Given the description of an element on the screen output the (x, y) to click on. 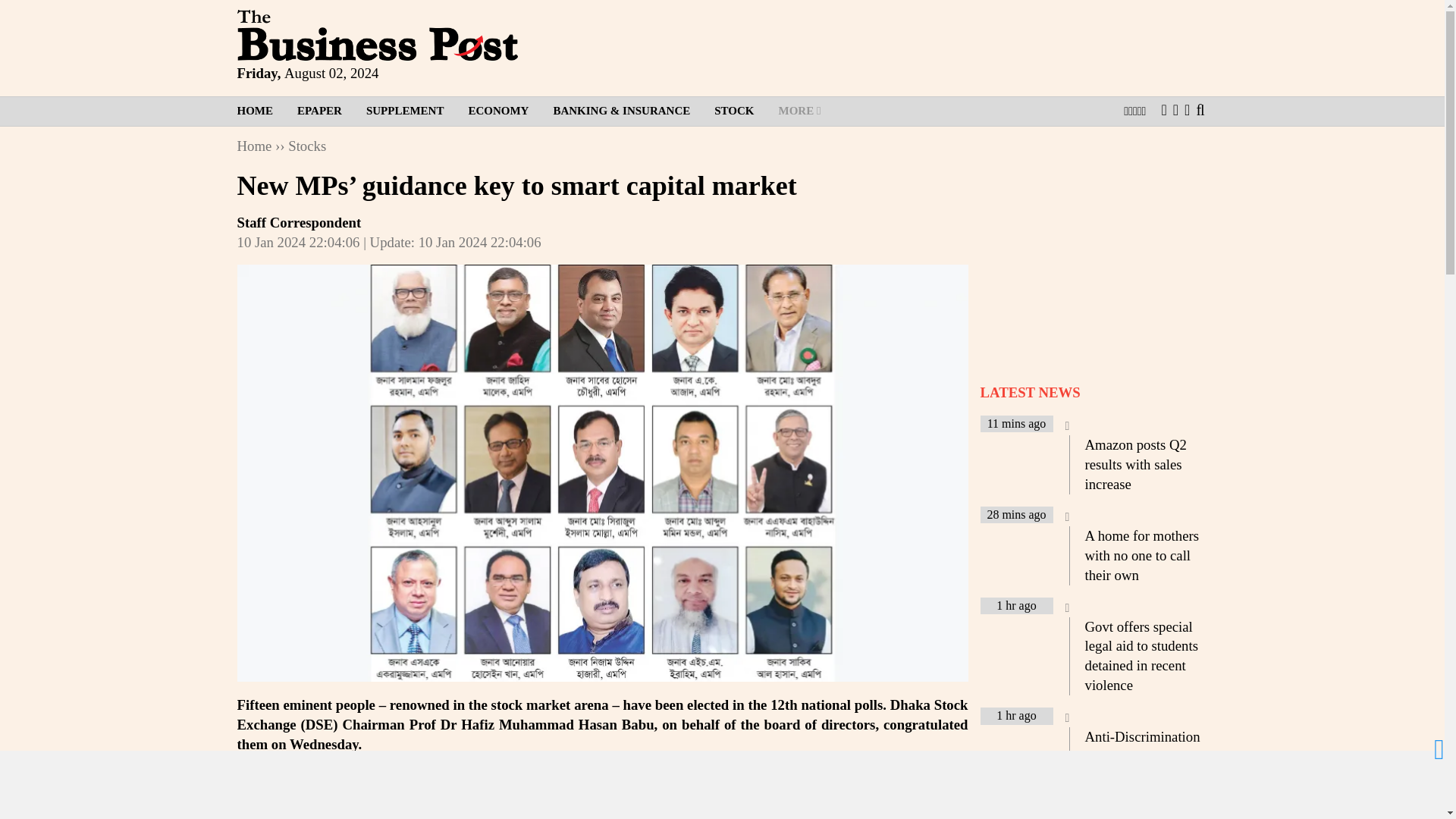
SUPPLEMENT (405, 111)
EPAPER (319, 111)
STOCK (733, 111)
ECONOMY (497, 111)
MORE (799, 111)
The Business Post (375, 34)
HOME (260, 111)
